Given the description of an element on the screen output the (x, y) to click on. 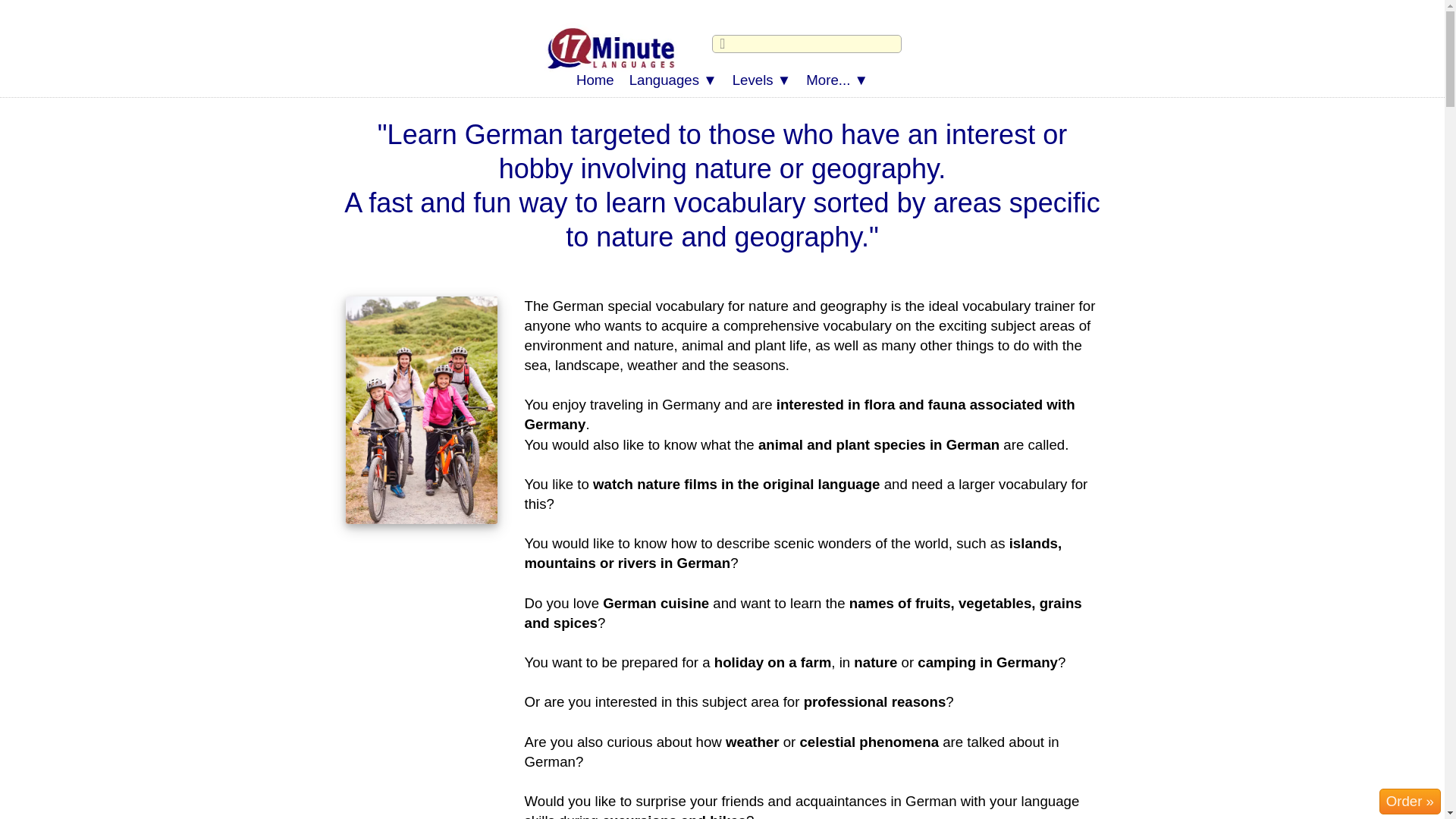
Home (595, 80)
Languages (673, 80)
